Given the description of an element on the screen output the (x, y) to click on. 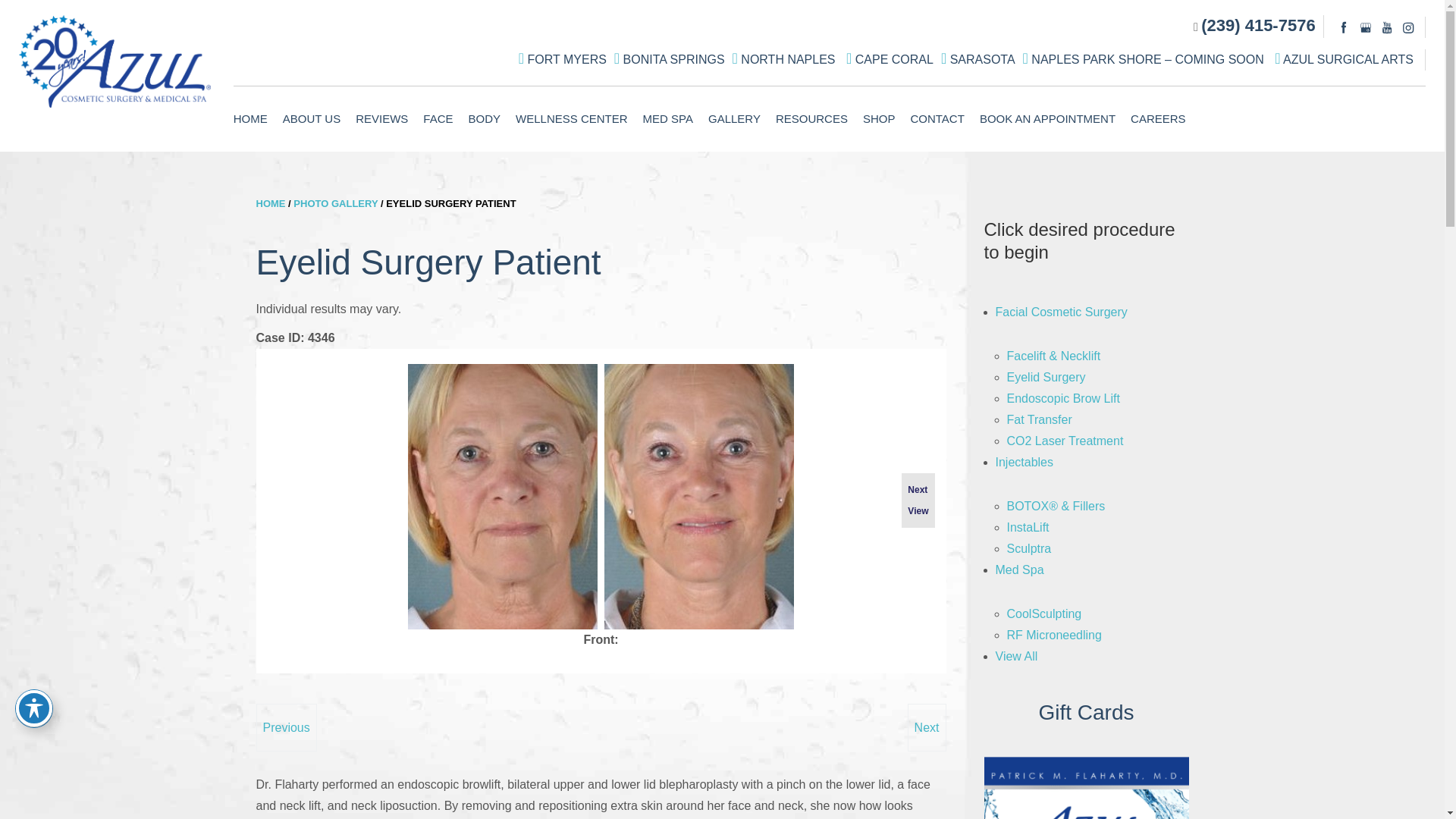
AZUL SURGICAL ARTS (1343, 59)
SARASOTA (978, 59)
BONITA SPRINGS (669, 59)
CAPE CORAL (890, 59)
FORT MYERS (562, 59)
HOME (253, 118)
ABOUT US (311, 118)
REVIEWS (380, 118)
FACE (437, 118)
NORTH NAPLES (786, 59)
